Given the description of an element on the screen output the (x, y) to click on. 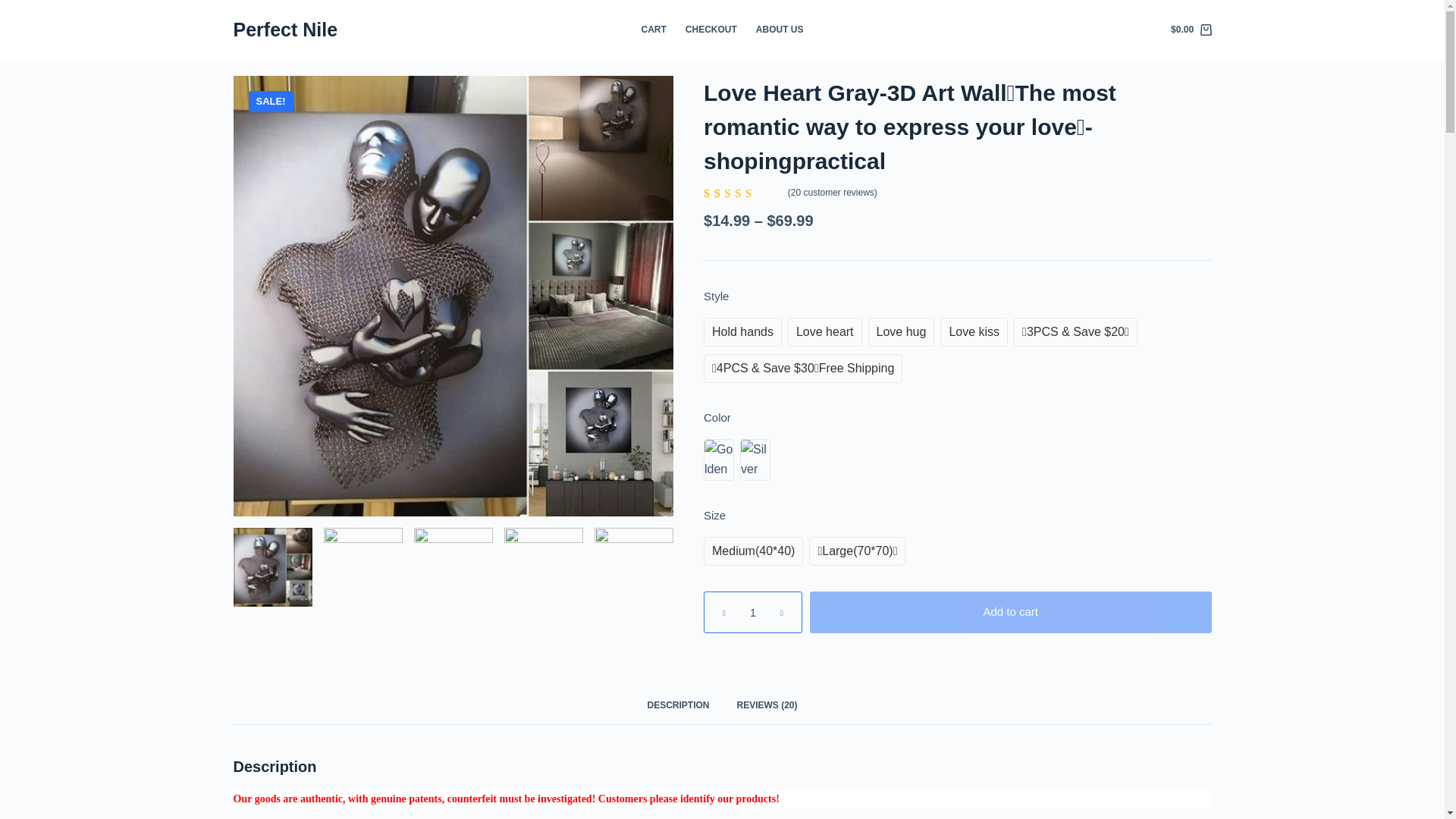
ABOUT US (778, 30)
1 (752, 610)
CHECKOUT (710, 30)
Add to cart (1010, 610)
Perfect Nile (284, 29)
Skip to content (15, 7)
DESCRIPTION (677, 703)
